Given the description of an element on the screen output the (x, y) to click on. 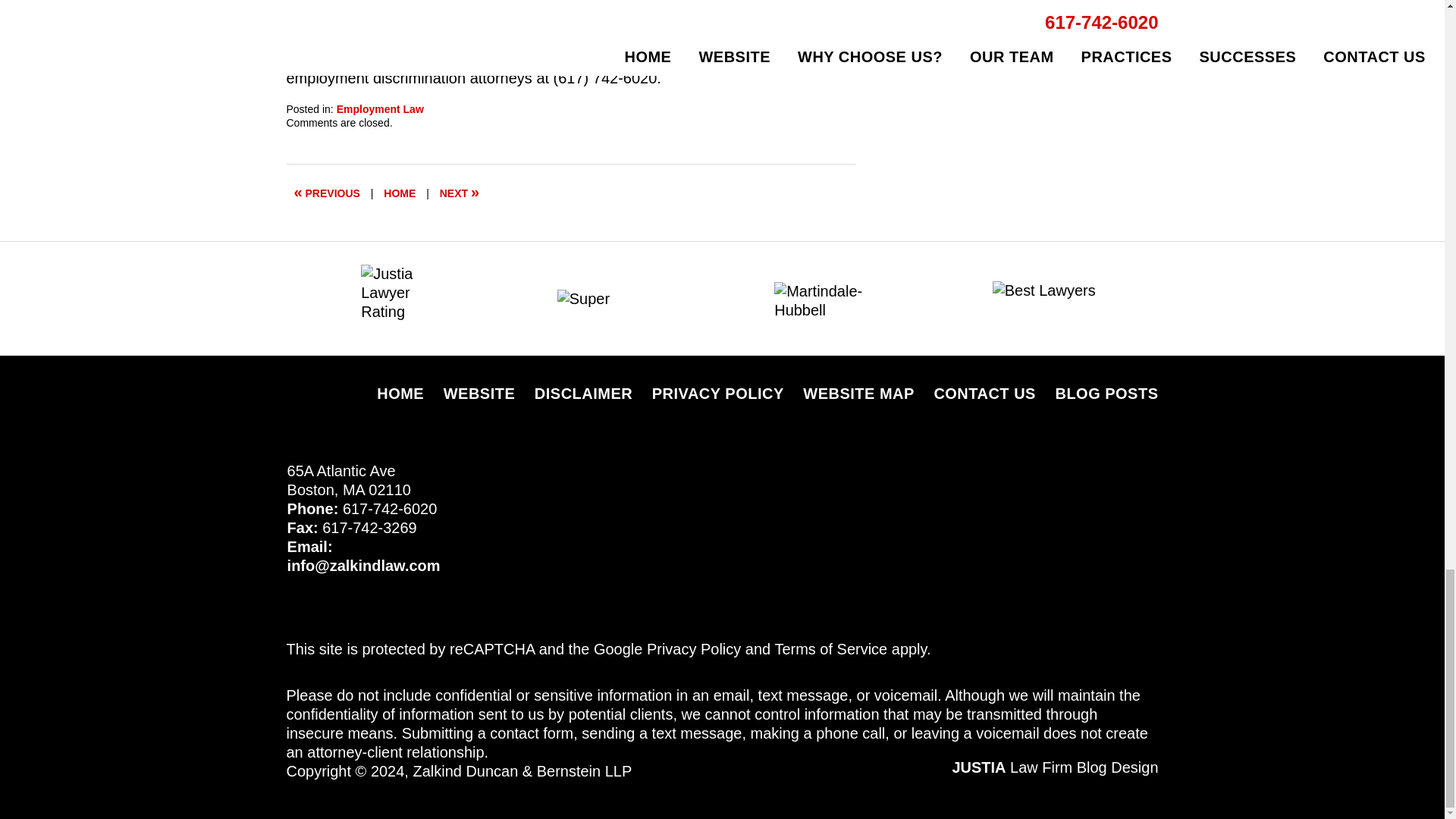
HOME (399, 193)
View all posts in Employment Law (379, 109)
contact (715, 58)
Employment Law (379, 109)
